Given the description of an element on the screen output the (x, y) to click on. 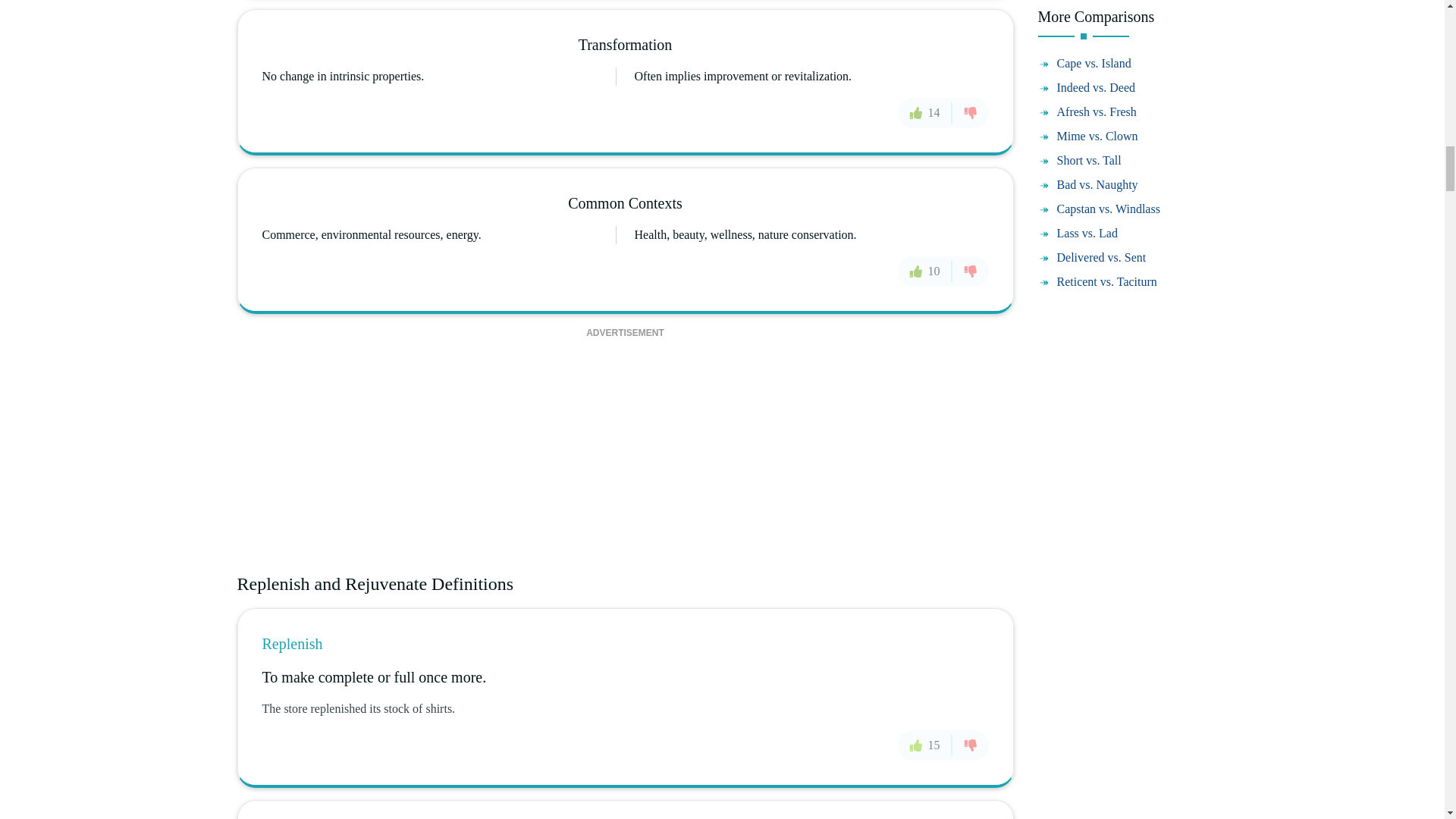
14 (925, 112)
10 (925, 271)
15 (925, 745)
